Given the description of an element on the screen output the (x, y) to click on. 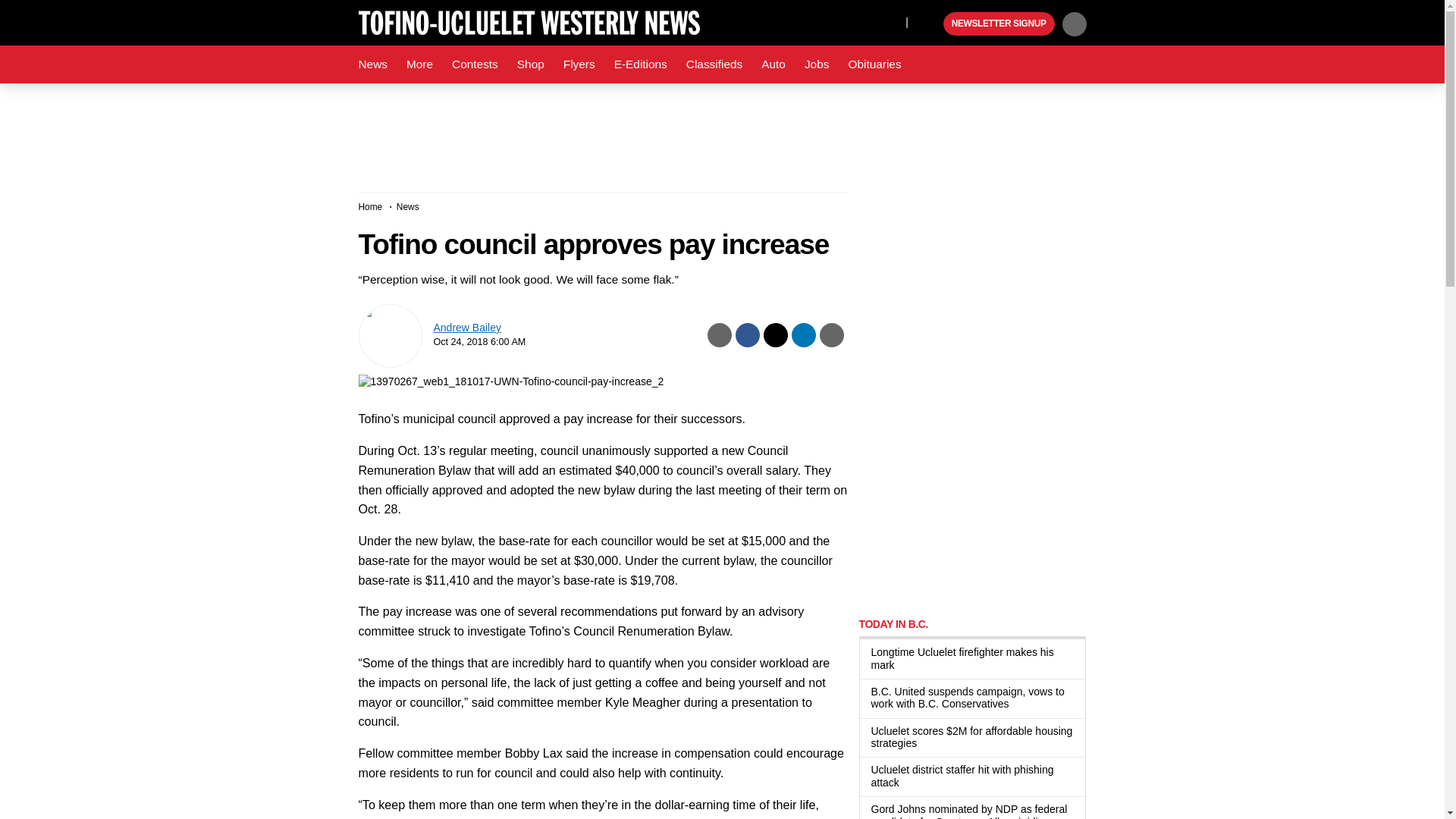
NEWSLETTER SIGNUP (998, 24)
Has a gallery (1017, 705)
Play (929, 24)
X (889, 21)
News (372, 64)
Black Press Media (929, 24)
